Given the description of an element on the screen output the (x, y) to click on. 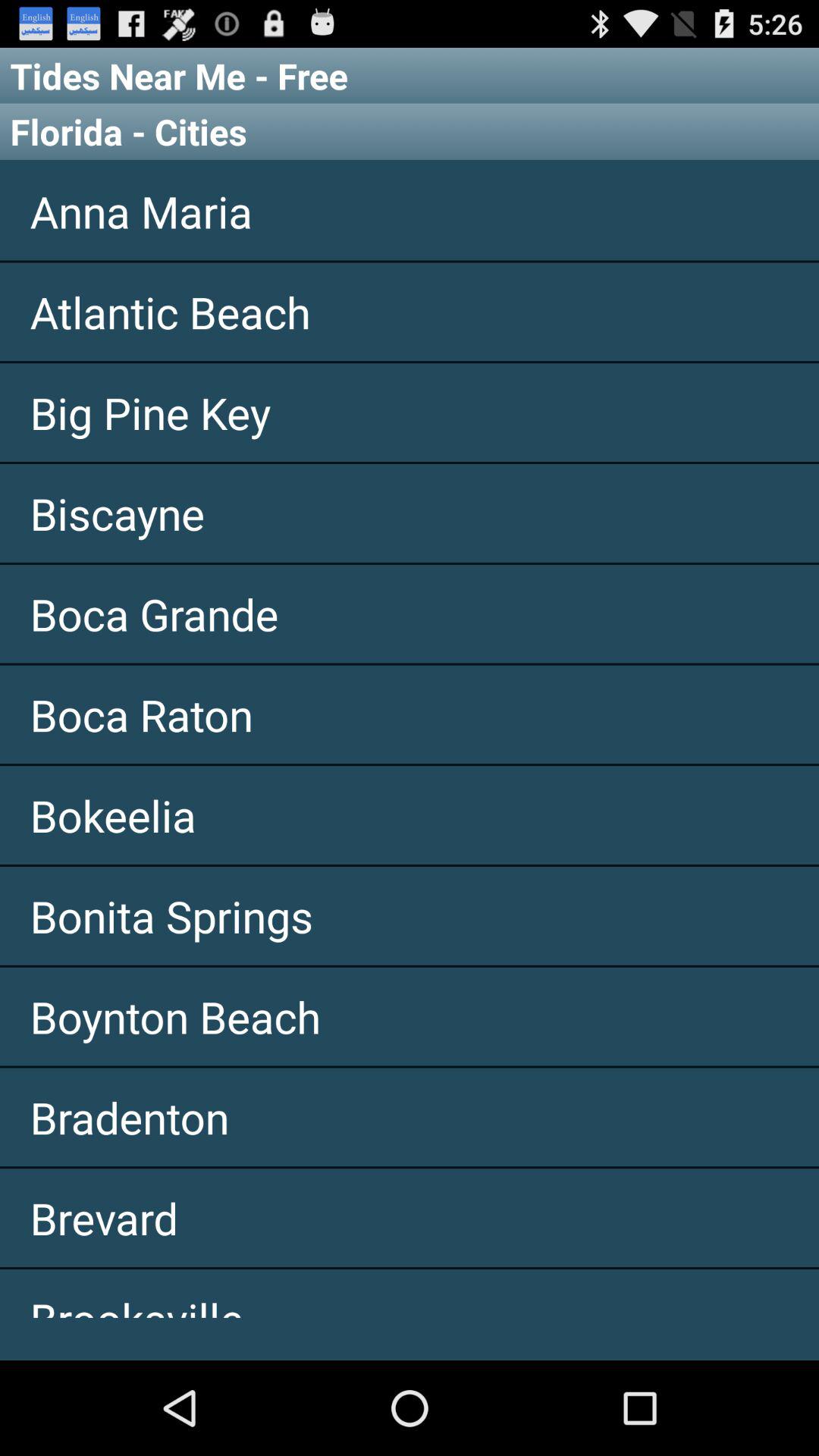
click the item below atlantic beach app (409, 412)
